Given the description of an element on the screen output the (x, y) to click on. 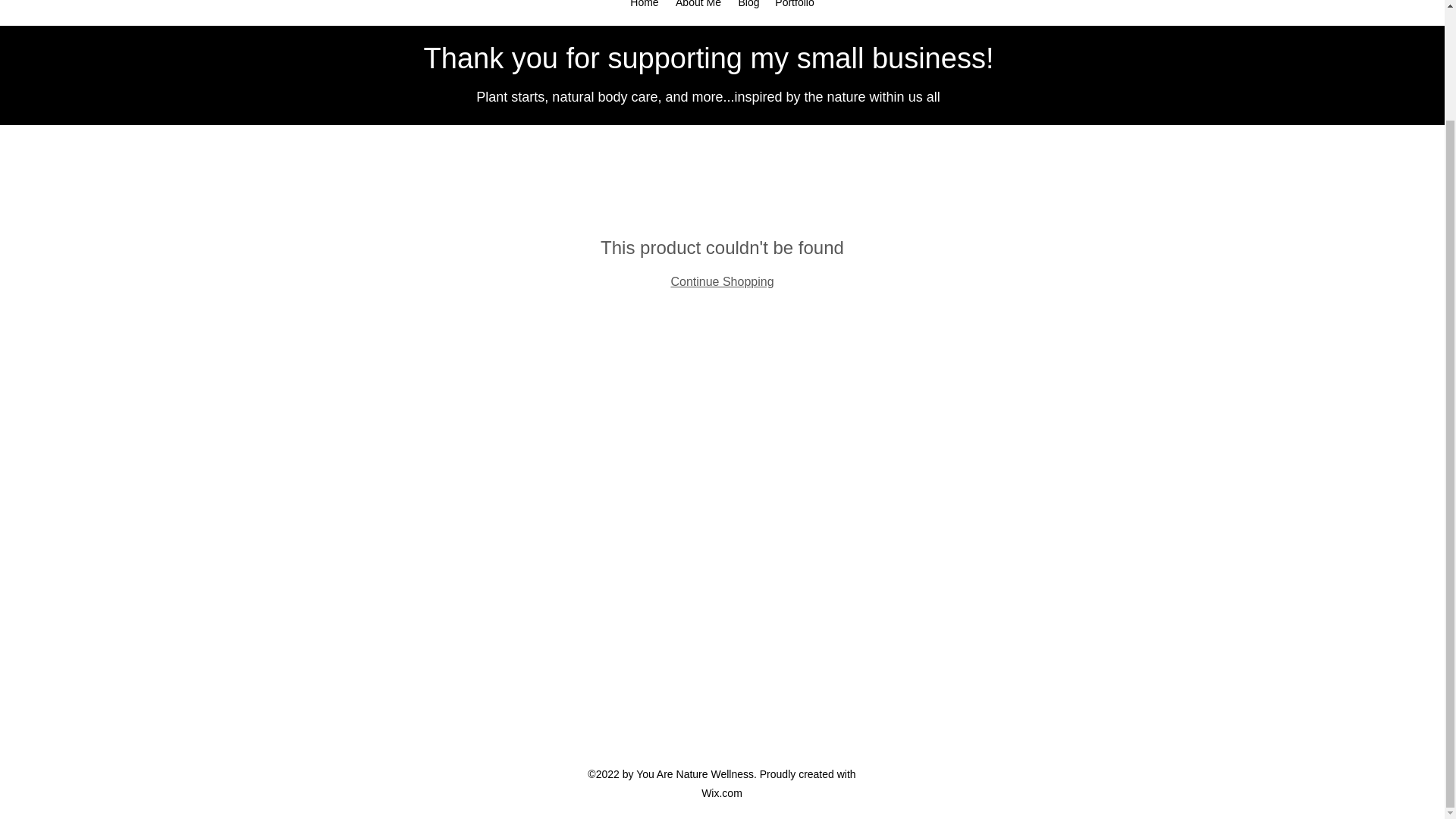
Portfolio (794, 6)
Blog (748, 6)
About Me (698, 6)
Home (644, 6)
Continue Shopping (721, 281)
